Given the description of an element on the screen output the (x, y) to click on. 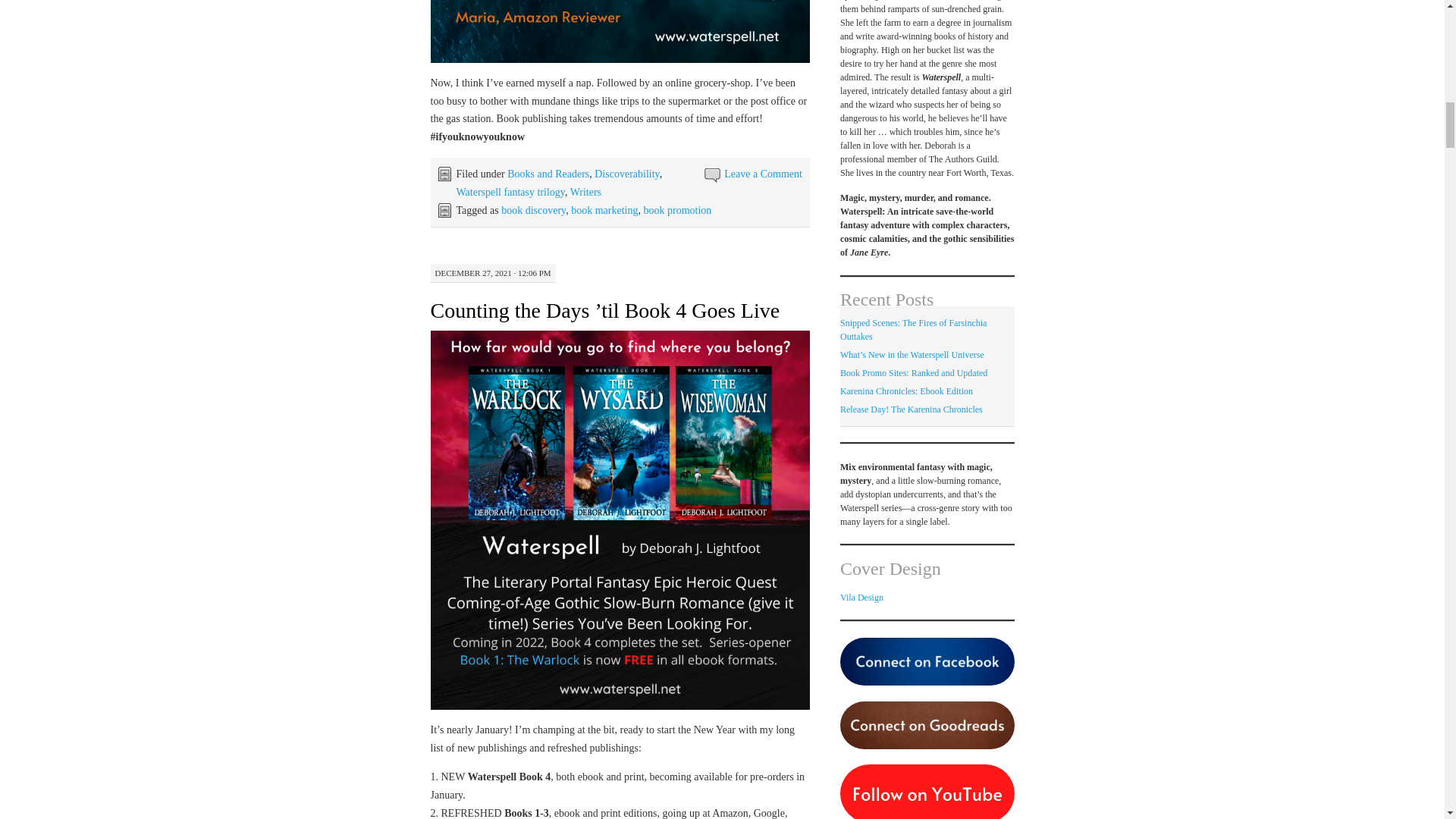
Discoverability (626, 173)
book promotion (677, 210)
Leave a Comment (762, 173)
Waterspell fantasy trilogy (510, 192)
book marketing (603, 210)
Books and Readers (547, 173)
Writers (585, 192)
book discovery (533, 210)
